Given the description of an element on the screen output the (x, y) to click on. 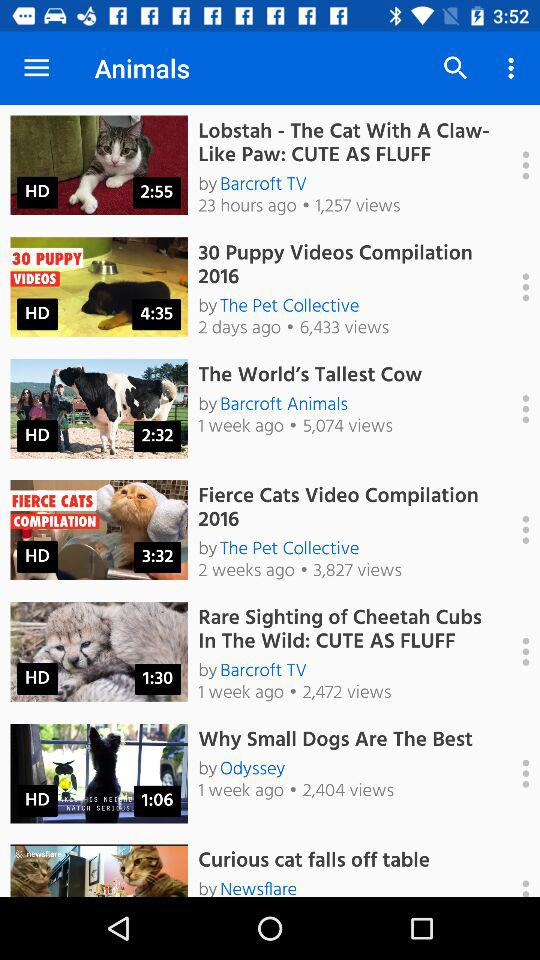
view options menu for video (515, 870)
